Given the description of an element on the screen output the (x, y) to click on. 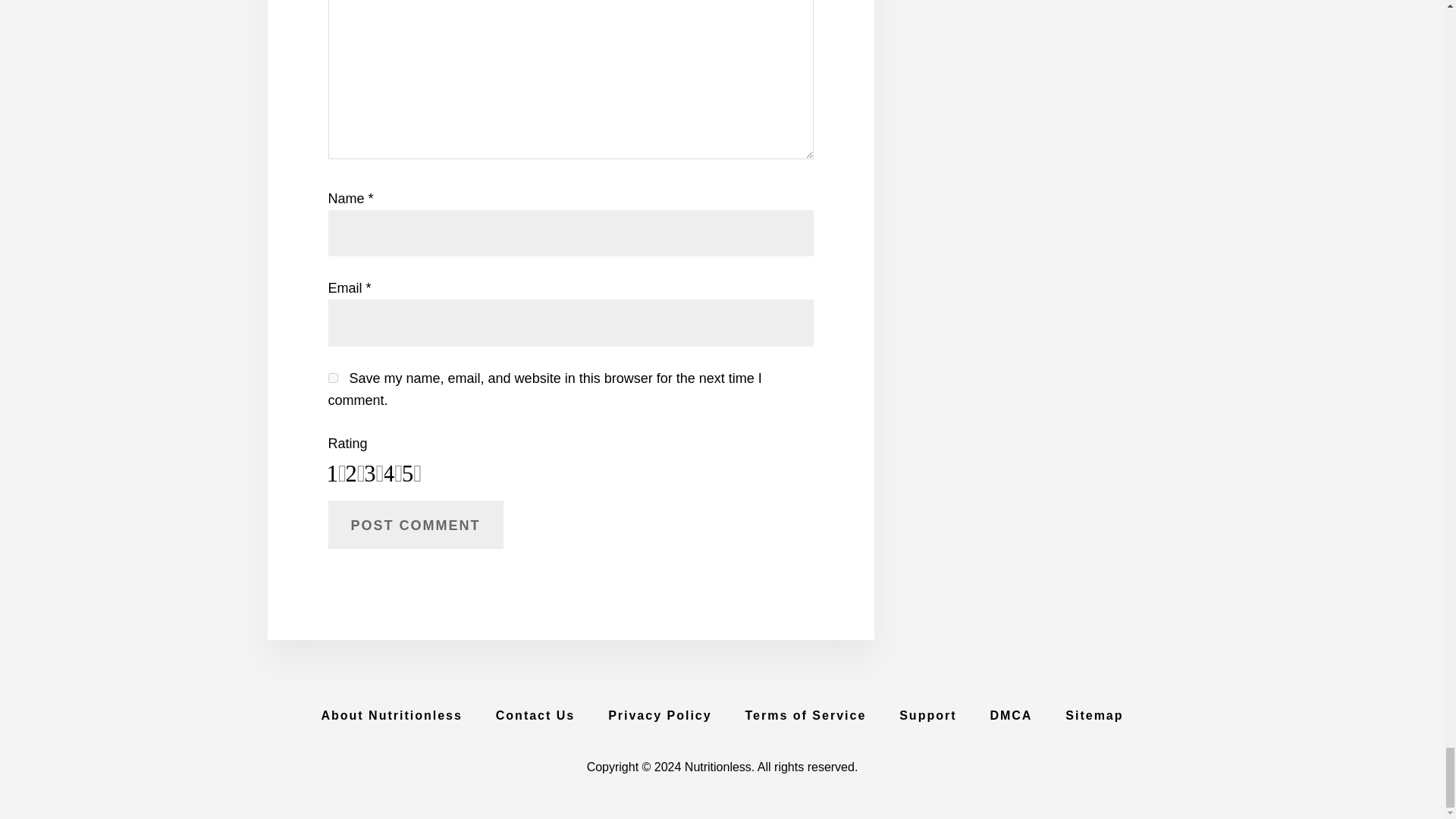
Post Comment (414, 524)
yes (332, 378)
